Given the description of an element on the screen output the (x, y) to click on. 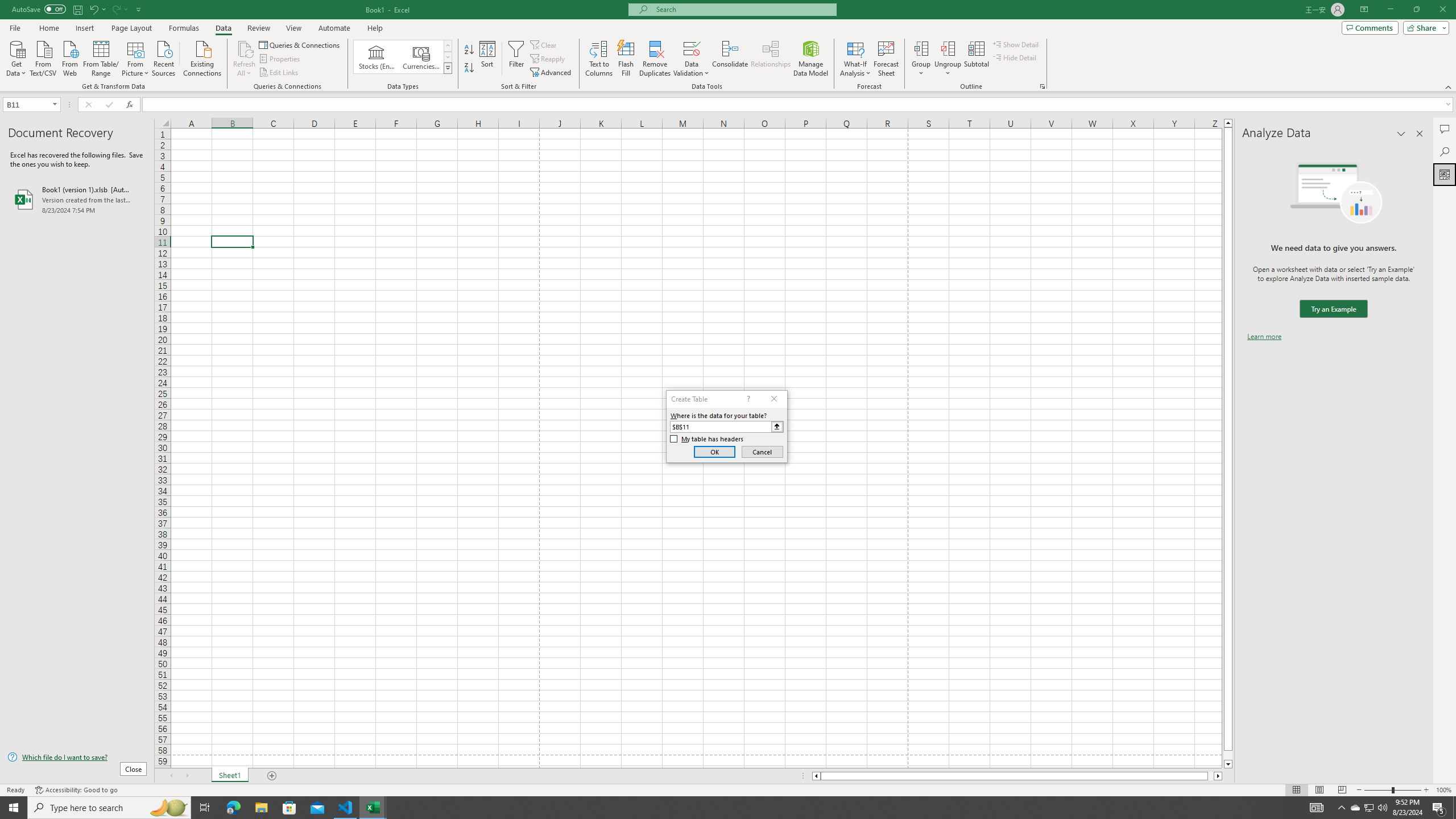
Consolidate... (729, 58)
Comments (1444, 128)
Filter (515, 58)
From Text/CSV (43, 57)
Comments (1369, 27)
Properties (280, 58)
Sort A to Z (469, 49)
We need data to give you answers. Try an Example (1333, 308)
Existing Connections (202, 57)
Recent Sources (163, 57)
Forecast Sheet (885, 58)
Home (48, 28)
Ribbon Display Options (1364, 9)
Subtotal (976, 58)
Review (258, 28)
